Given the description of an element on the screen output the (x, y) to click on. 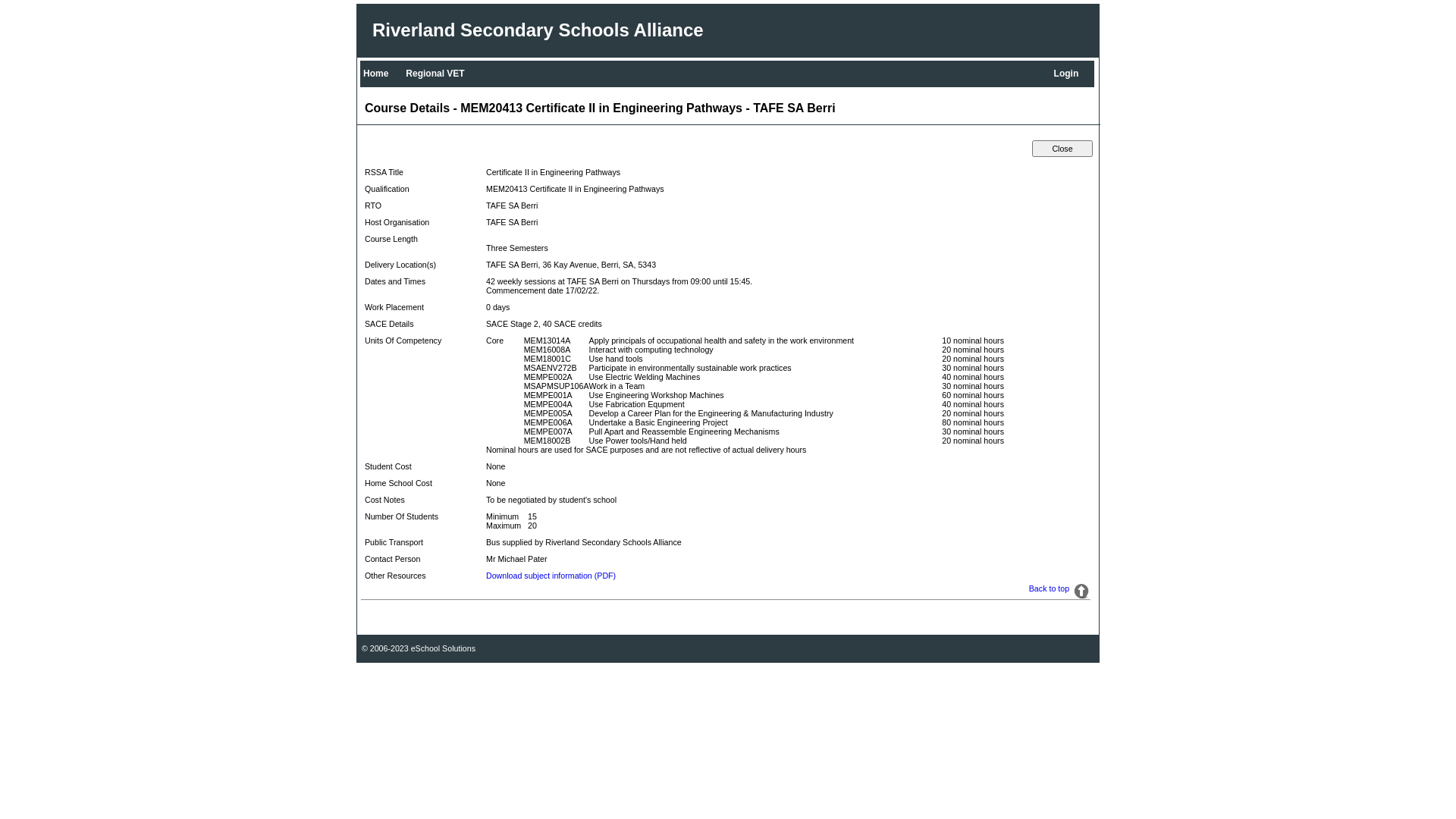
Login Element type: text (1068, 73)
Download subject information (PDF) Element type: text (550, 575)
Home Element type: text (377, 73)
Regional VET Element type: text (437, 73)
Back to top Element type: text (1049, 588)
Close Element type: text (1062, 148)
